Given the description of an element on the screen output the (x, y) to click on. 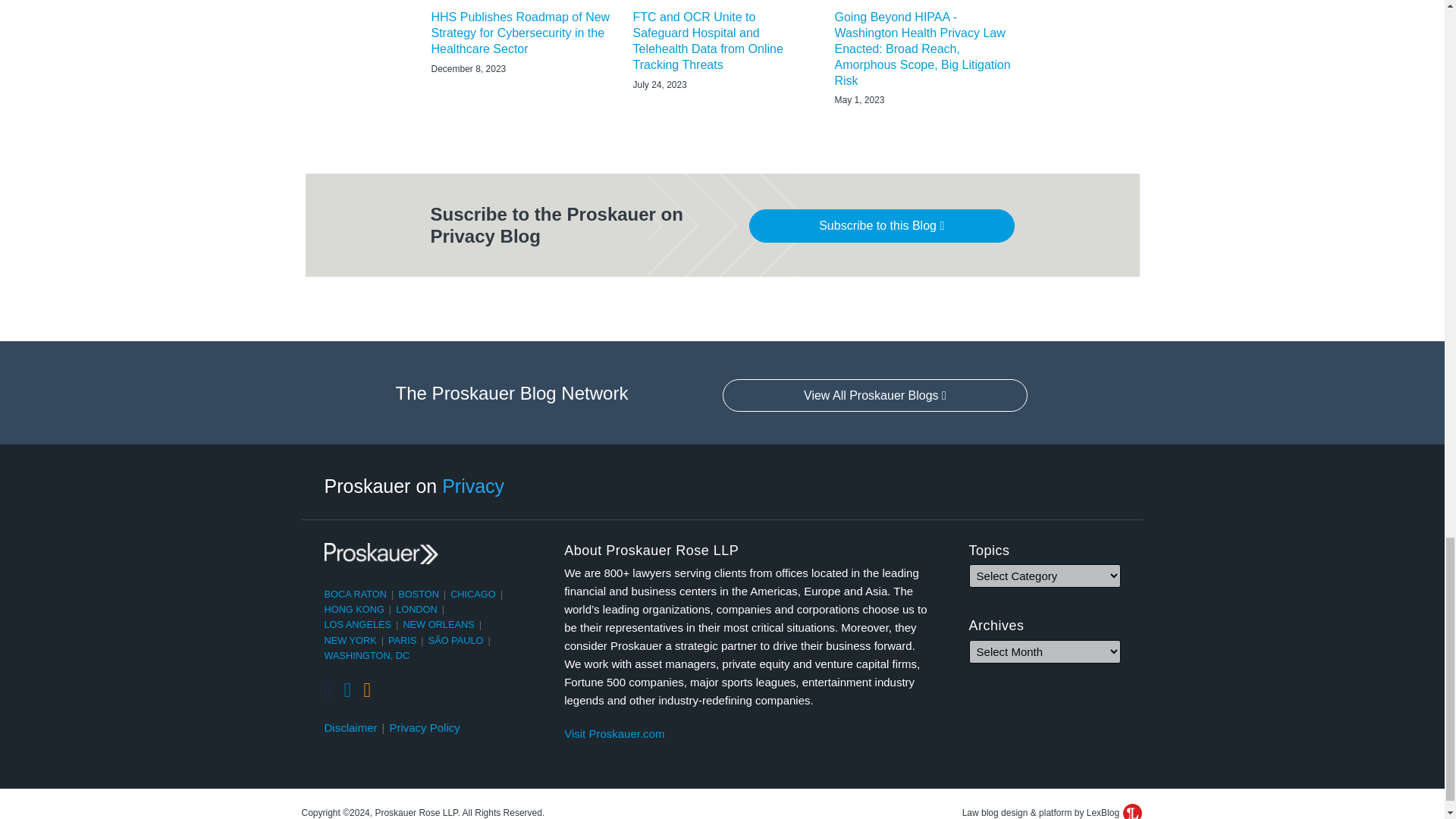
LONDON (417, 609)
Subscribe to this Blog (881, 225)
NEW ORLEANS (438, 624)
BOSTON (418, 593)
View All Proskauer Blogs (874, 395)
LexBlog Logo (1131, 811)
CHICAGO (472, 593)
BOCA RATON (355, 593)
HONG KONG (354, 609)
Proskauer on Privacy (414, 485)
LOS ANGELES (357, 624)
NEW YORK (350, 640)
